Given the description of an element on the screen output the (x, y) to click on. 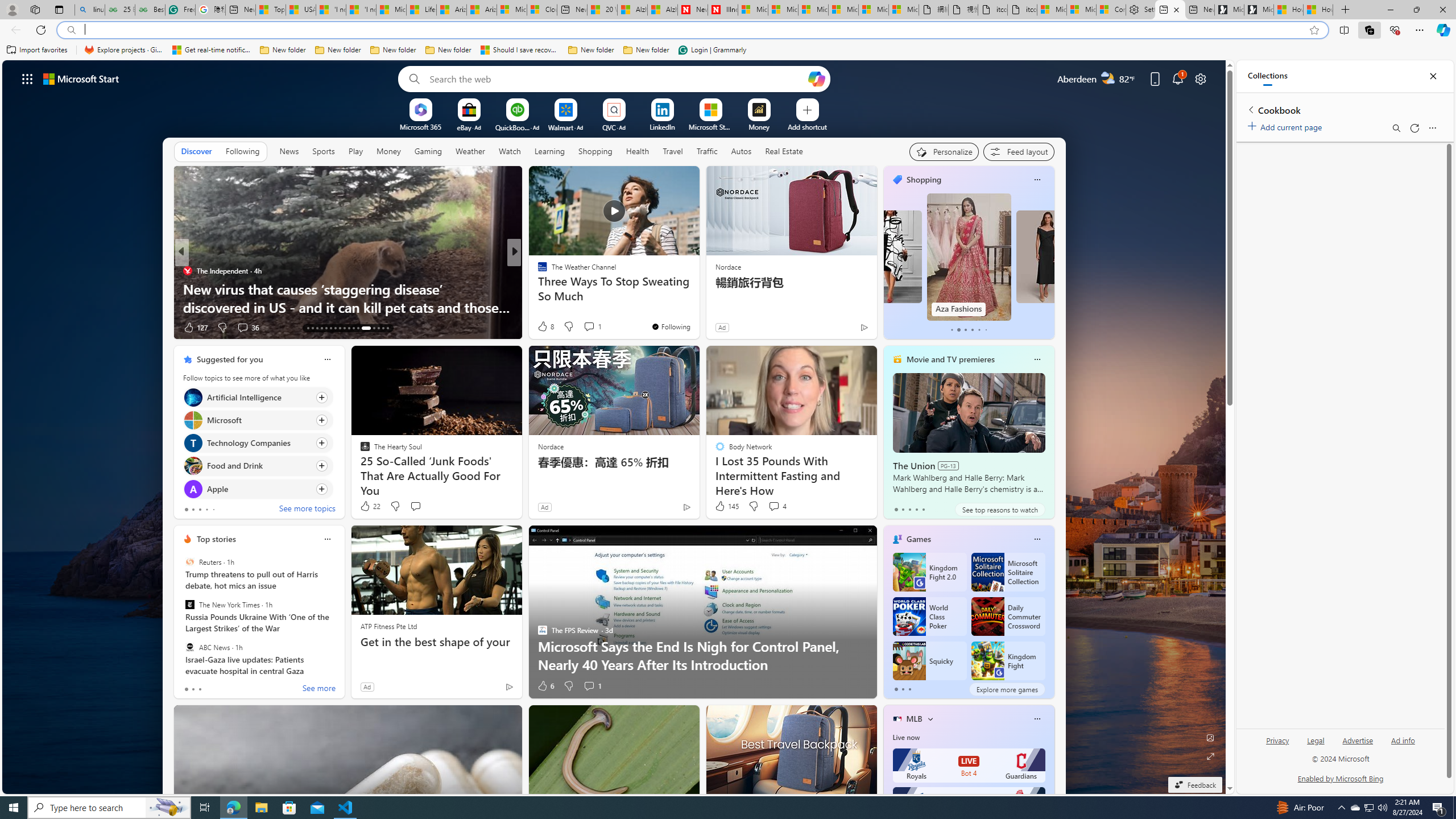
Page settings (1200, 78)
Expand background (1210, 756)
Suggested for you (229, 359)
AutomationID: backgroundImagePicture (613, 426)
tab-1 (903, 689)
Lifestyle - MSN (421, 9)
AutomationID: tab-22 (348, 328)
Best SSL Certificates Provider in India - GeeksforGeeks (149, 9)
